Given the description of an element on the screen output the (x, y) to click on. 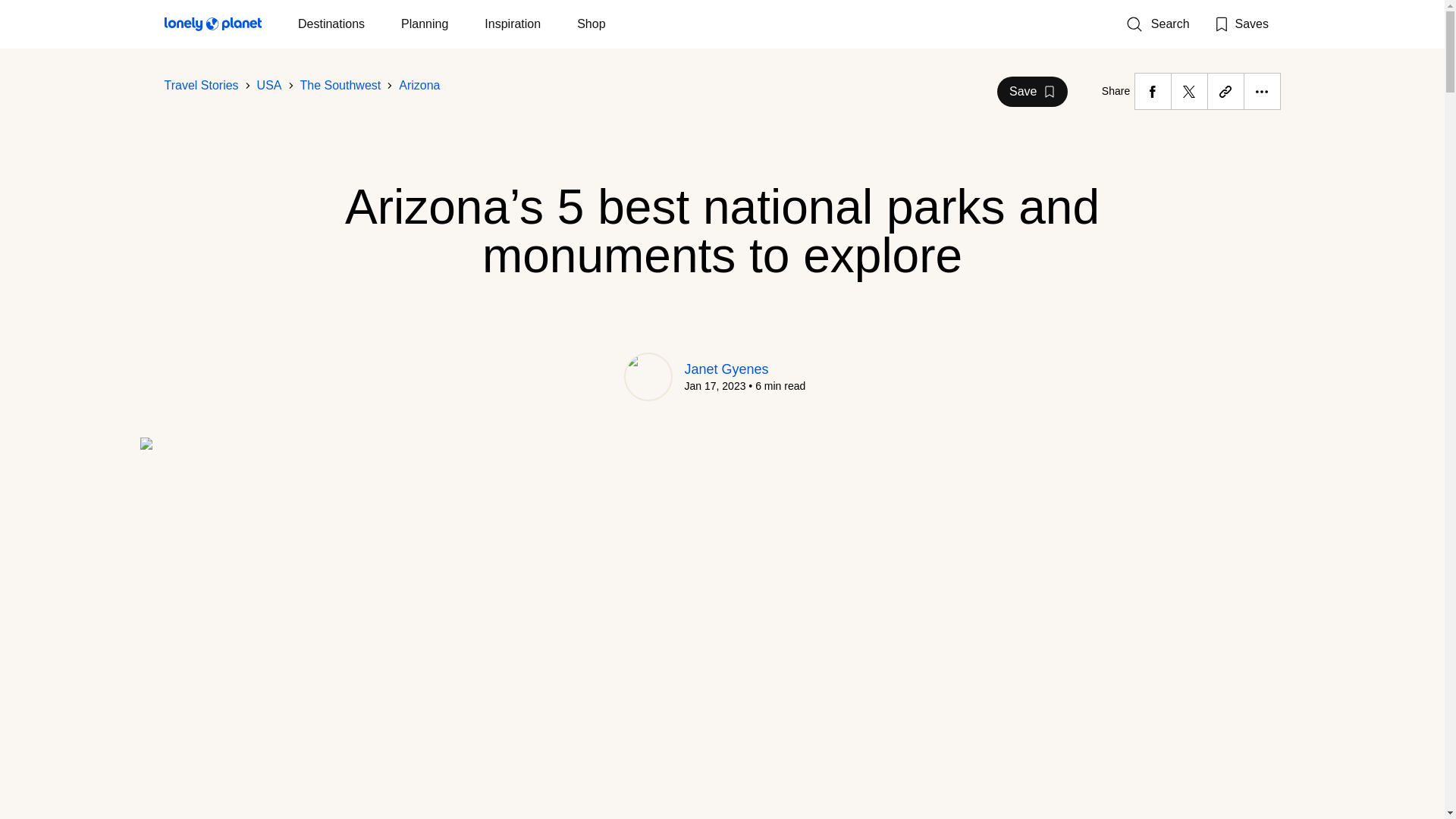
Saves (1240, 24)
Arizona (418, 85)
Lonely Planet (211, 26)
USA (269, 85)
Destinations (330, 24)
Travel Stories (200, 85)
The Southwest (340, 85)
Inspiration (512, 24)
Planning (424, 24)
Janet Gyenes (726, 368)
